Given the description of an element on the screen output the (x, y) to click on. 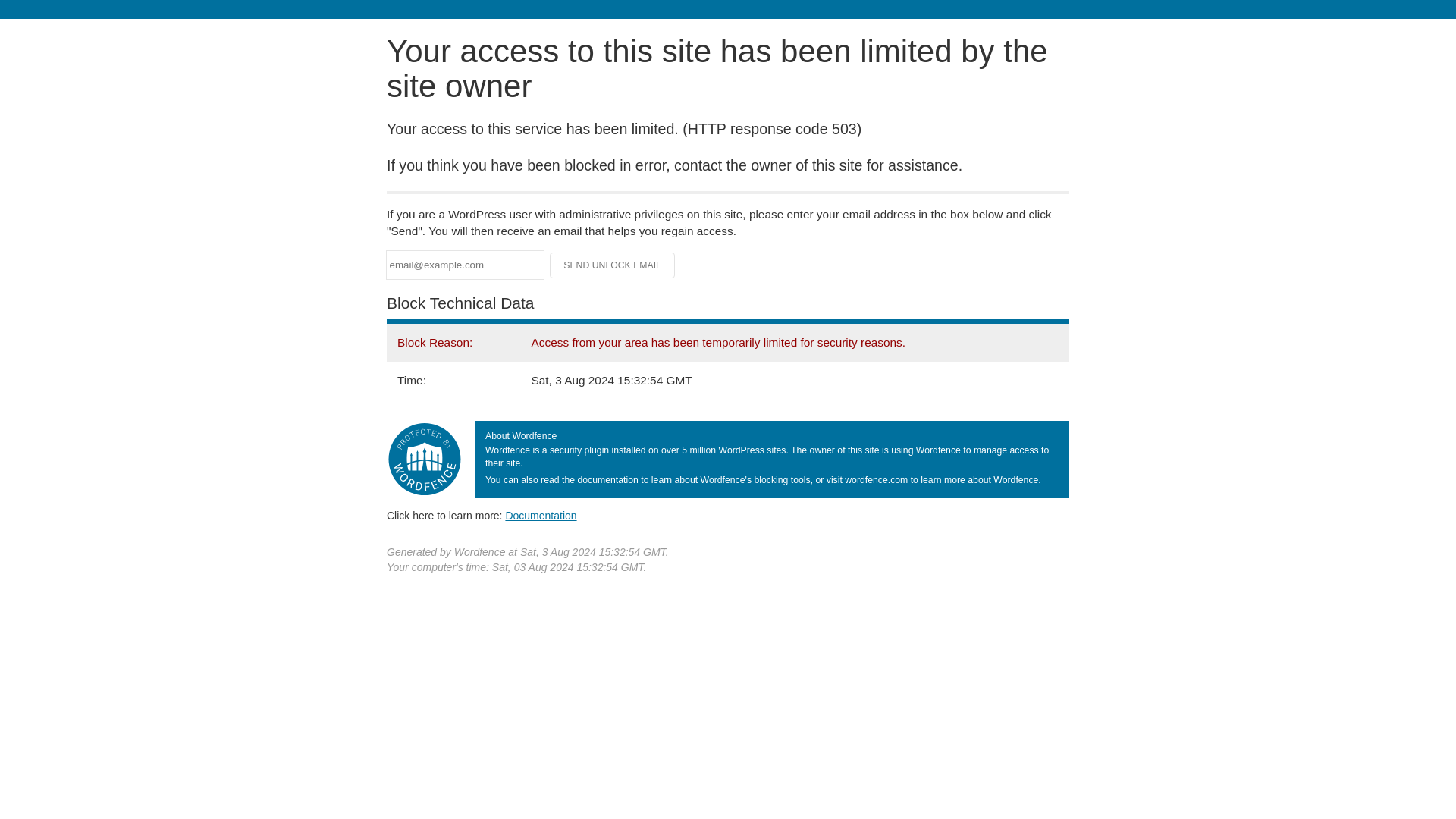
Send Unlock Email (612, 265)
Documentation (540, 515)
Send Unlock Email (612, 265)
